Given the description of an element on the screen output the (x, y) to click on. 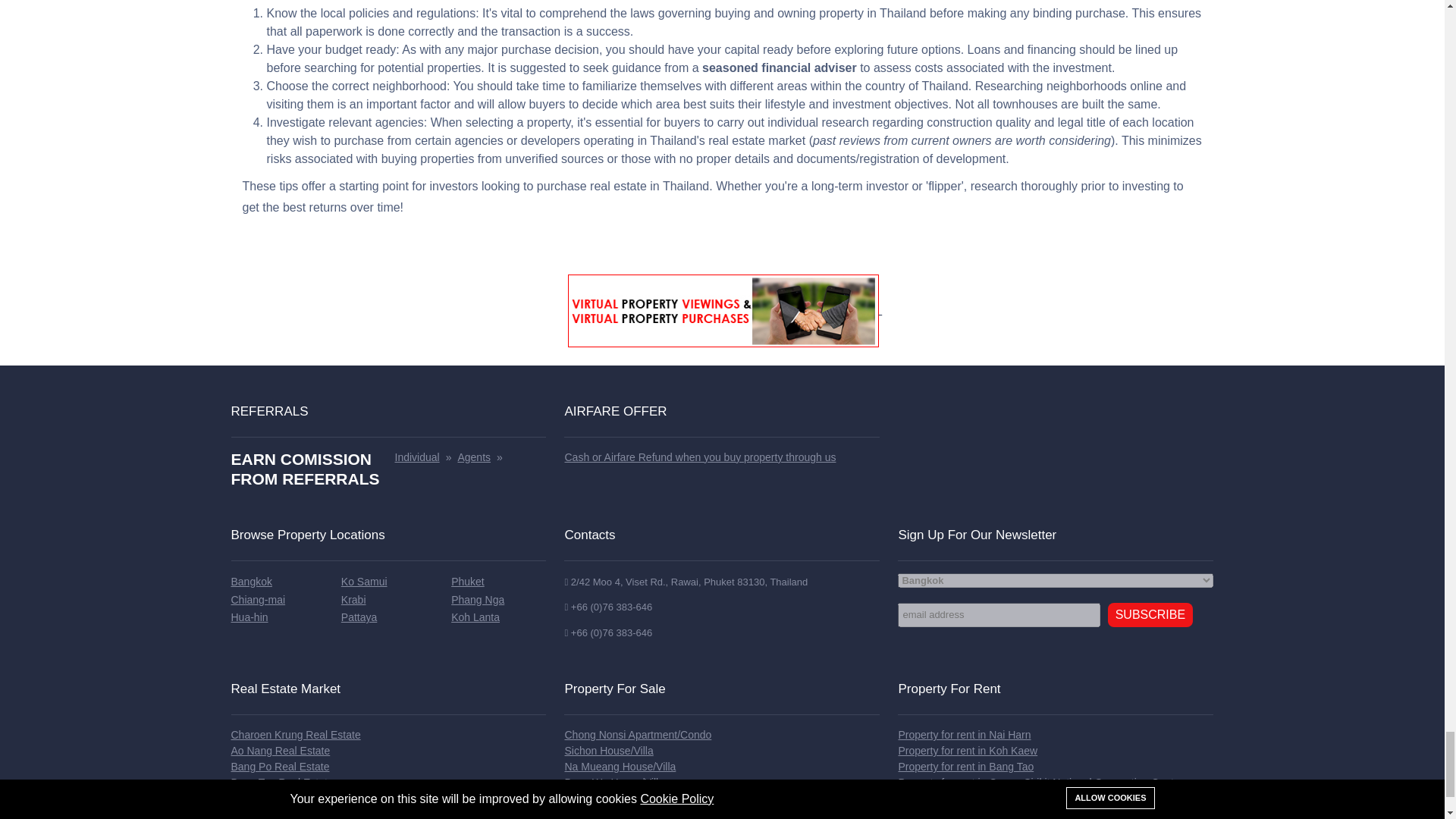
Subscribe (1150, 614)
